Given the description of an element on the screen output the (x, y) to click on. 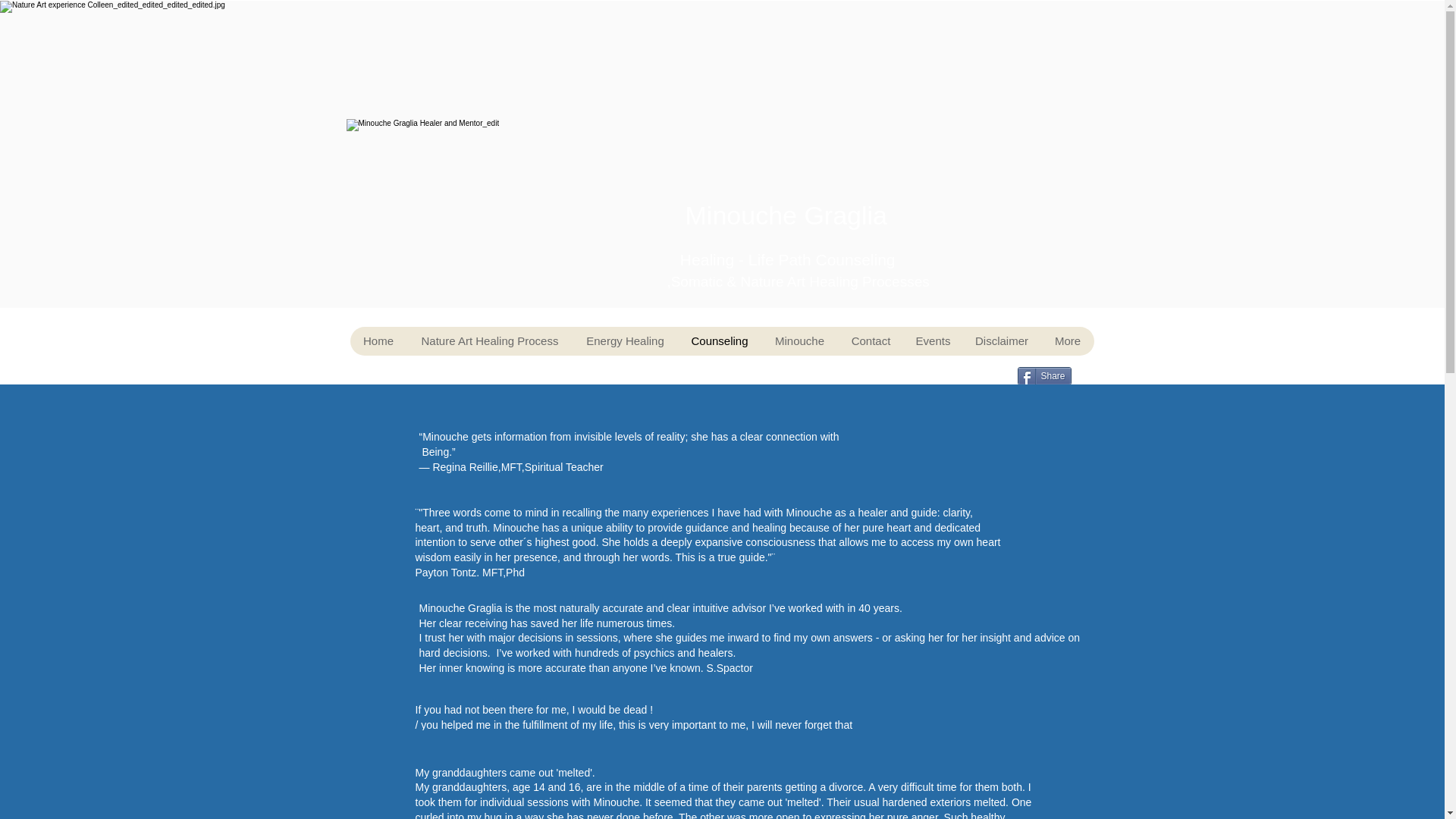
Home (378, 340)
Share (1044, 375)
Nature Art Healing Process (489, 340)
Minouche (799, 340)
Disclaimer (1000, 340)
Share (1044, 375)
Energy Healing (624, 340)
Contact (869, 340)
Events (933, 340)
Counseling (719, 340)
